Given the description of an element on the screen output the (x, y) to click on. 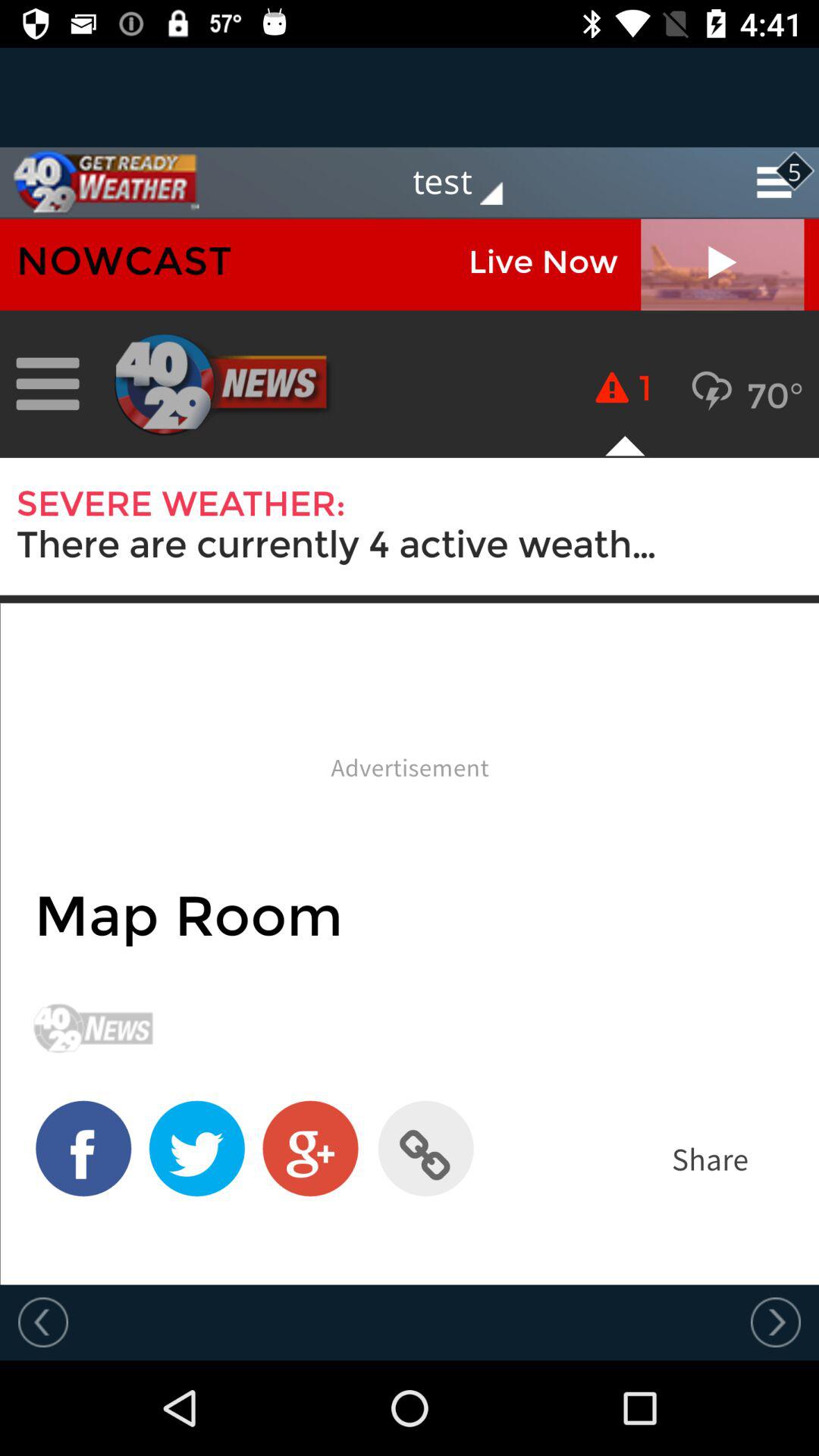
next button (775, 1322)
